Given the description of an element on the screen output the (x, y) to click on. 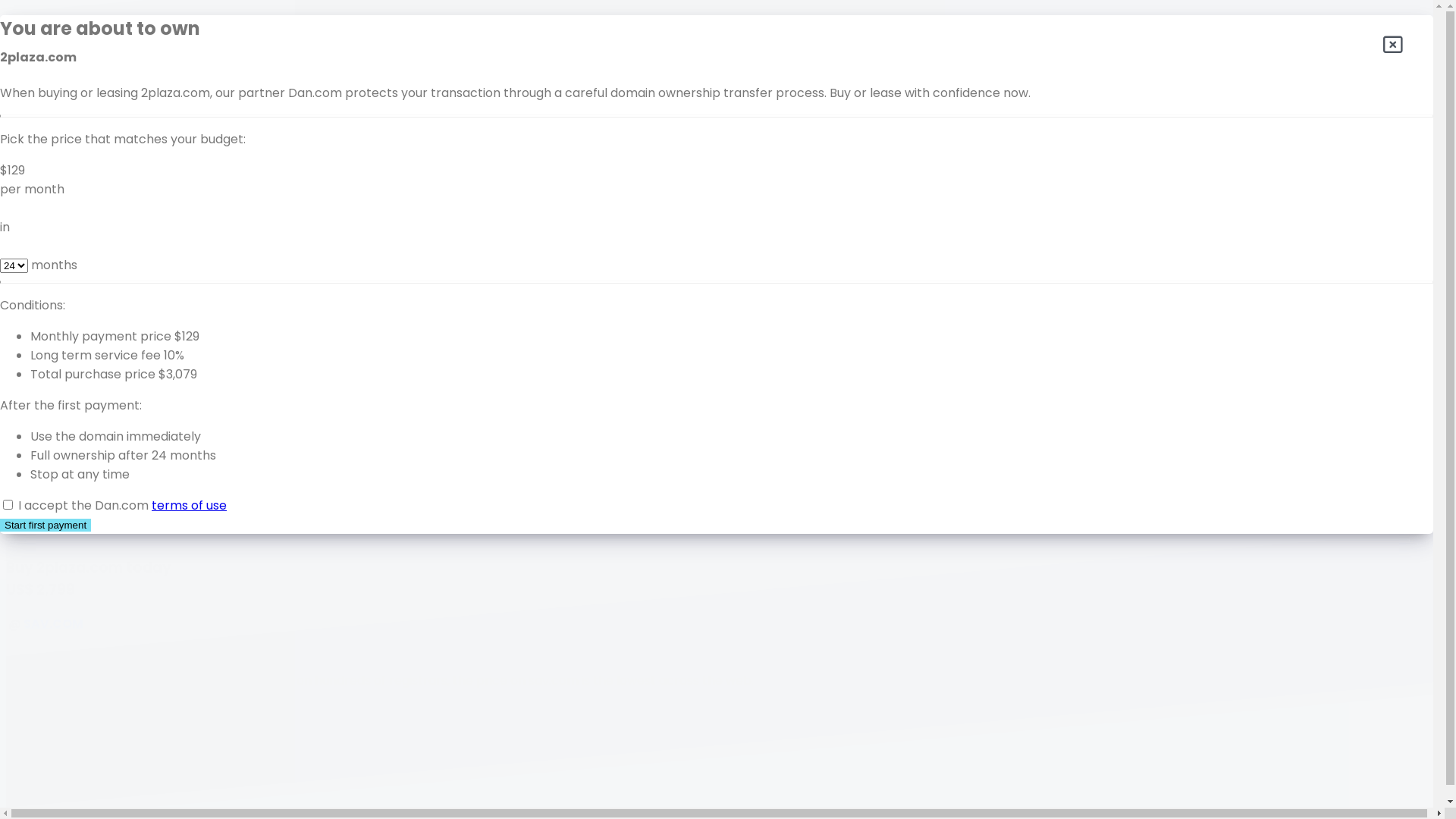
English Element type: text (64, 21)
Greek Element type: text (84, 533)
Hungarian Element type: text (96, 191)
Lithuanian Element type: text (96, 248)
Chinese (simplified) Element type: text (125, 457)
Russian Element type: text (88, 343)
Japanese Element type: text (95, 135)
Dutch Element type: text (84, 59)
Sav Element type: text (1216, 515)
Slovenian Element type: text (94, 381)
Start first payment Element type: text (45, 524)
Godaddy Element type: text (1270, 515)
Romanian Element type: text (96, 324)
Minimum price option Element type: text (77, 515)
Estonian Element type: text (91, 154)
Ukrainian Element type: text (94, 438)
Danish Element type: text (86, 514)
Finnish Element type: text (86, 173)
English Element type: text (86, 40)
Czech Element type: text (85, 495)
Turkish Element type: text (87, 419)
Polish Element type: text (83, 286)
Latvian Element type: text (87, 267)
SAV.COM Element type: text (53, 623)
Indonesian Element type: text (98, 210)
Slovak Element type: text (85, 362)
Bulgarian Element type: text (94, 476)
Swedish Element type: text (90, 400)
Namecheap Element type: text (1365, 515)
Or buy now Element type: text (40, 443)
Spanish Element type: text (89, 97)
German Element type: text (91, 78)
French Element type: text (87, 116)
Italian Element type: text (84, 229)
Portuguese Element type: text (100, 305)
terms of use Element type: text (188, 505)
